Given the description of an element on the screen output the (x, y) to click on. 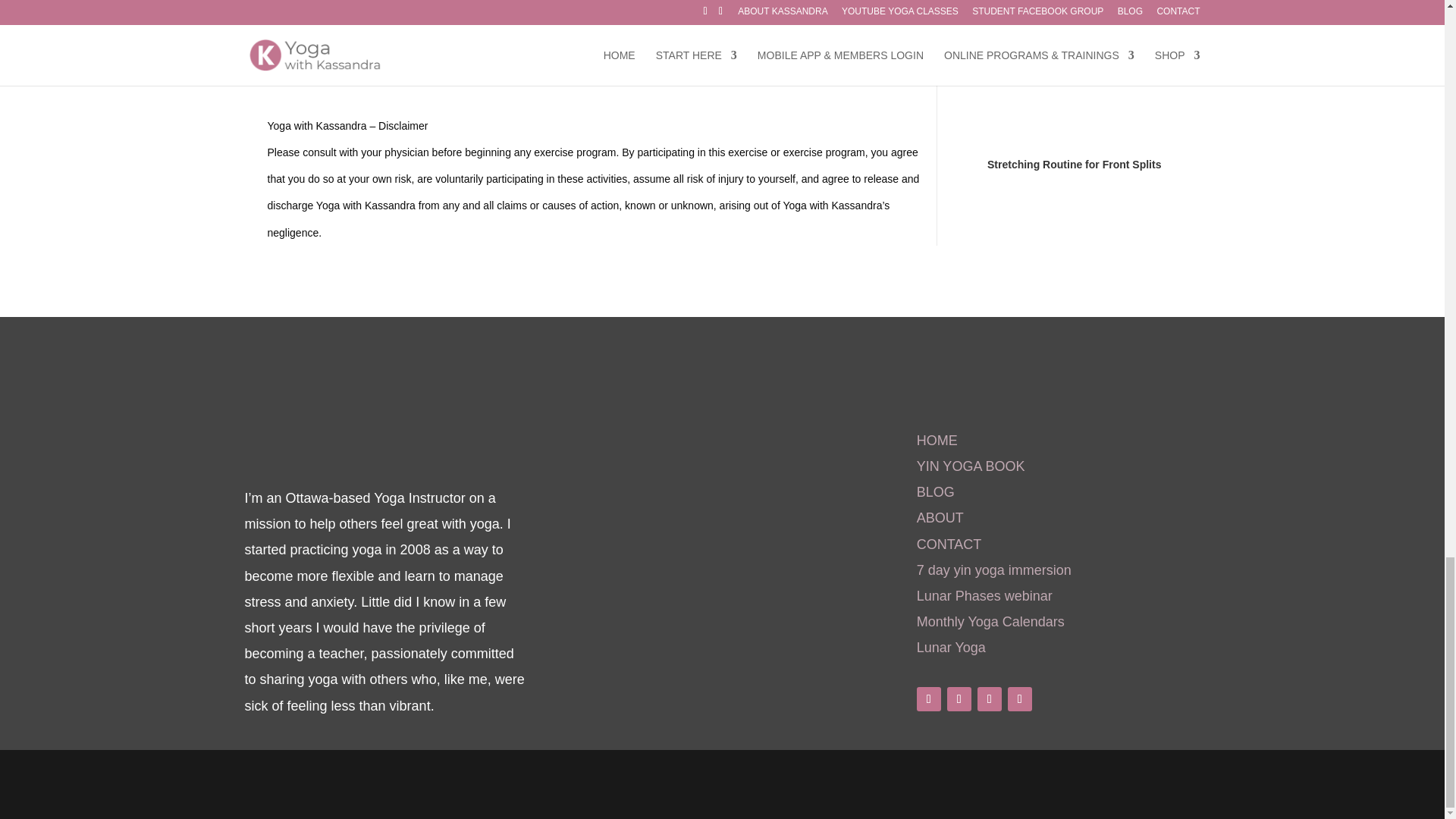
Follow on Pinterest (1019, 699)
Follow on Youtube (959, 699)
fb:page Facebook Social Plugin (698, 508)
Follow on Facebook (928, 699)
Follow on Instagram (988, 699)
